Given the description of an element on the screen output the (x, y) to click on. 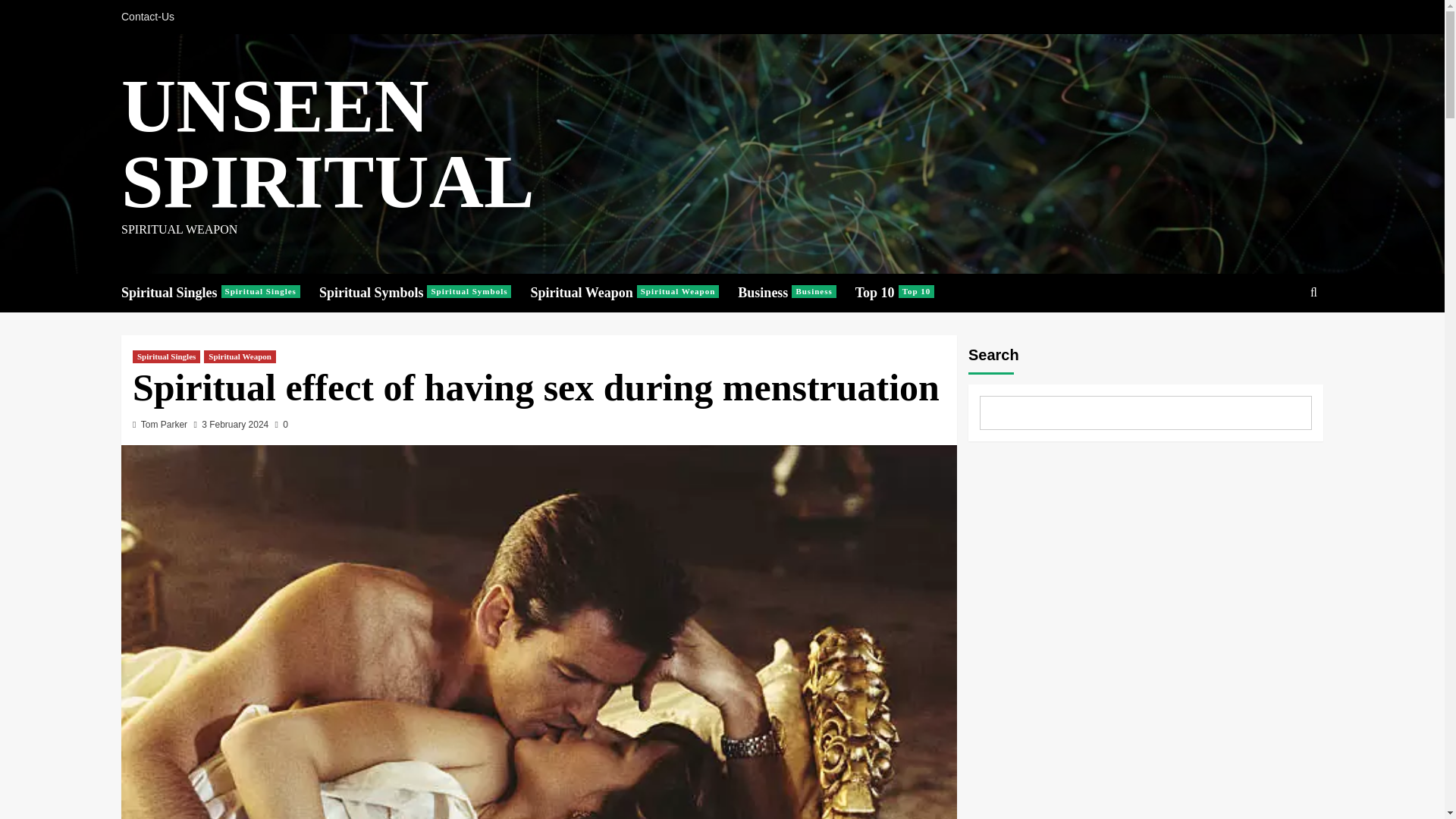
UNSEEN SPIRITUAL (327, 143)
Contact-Us (424, 292)
Tom Parker (904, 292)
Search (151, 17)
0 (164, 424)
3 February 2024 (633, 292)
Spiritual Singles (1278, 339)
Spiritual Weapon (281, 424)
